Given the description of an element on the screen output the (x, y) to click on. 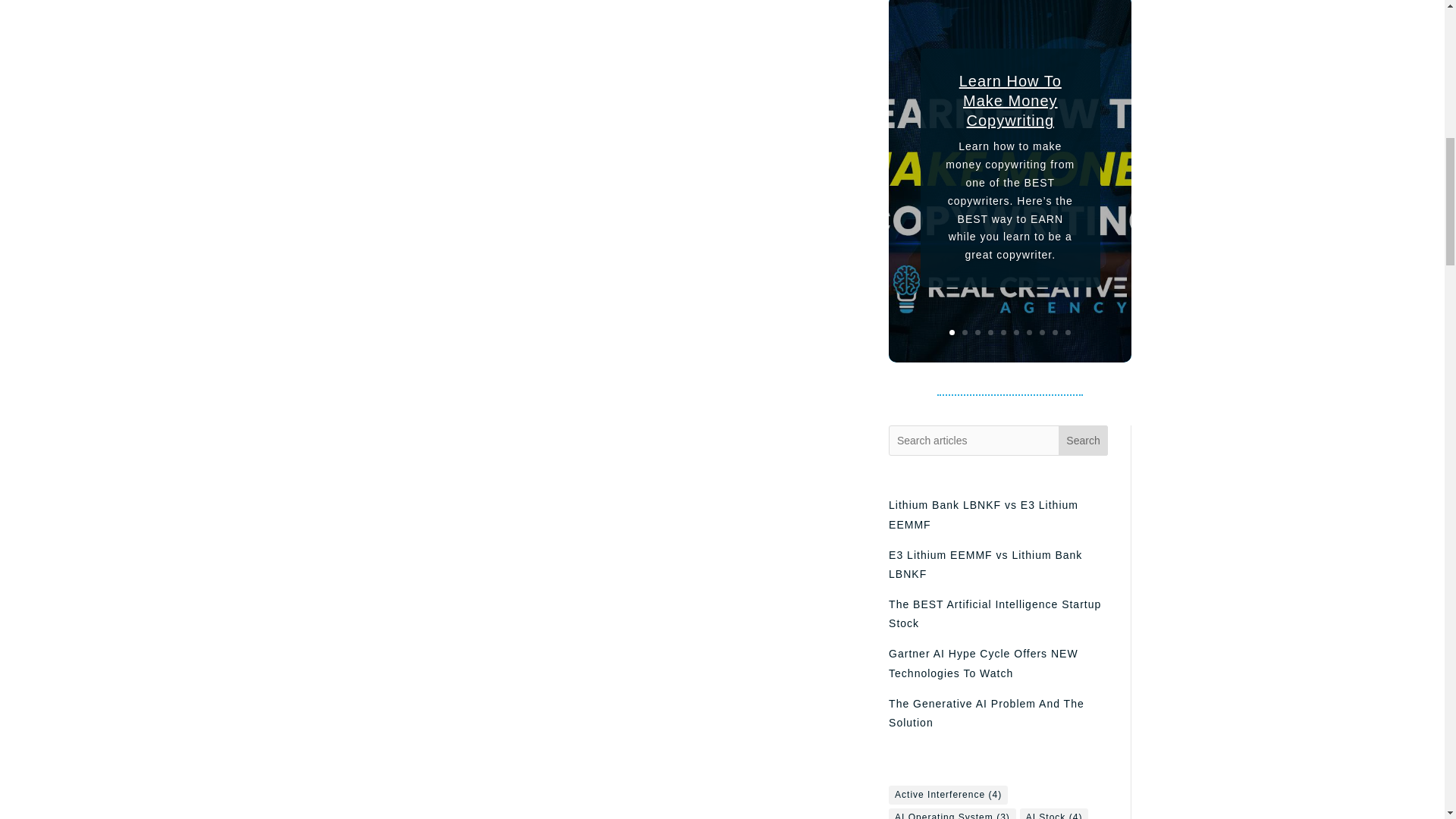
Learn How To Make Money Copywriting (1010, 109)
